Given the description of an element on the screen output the (x, y) to click on. 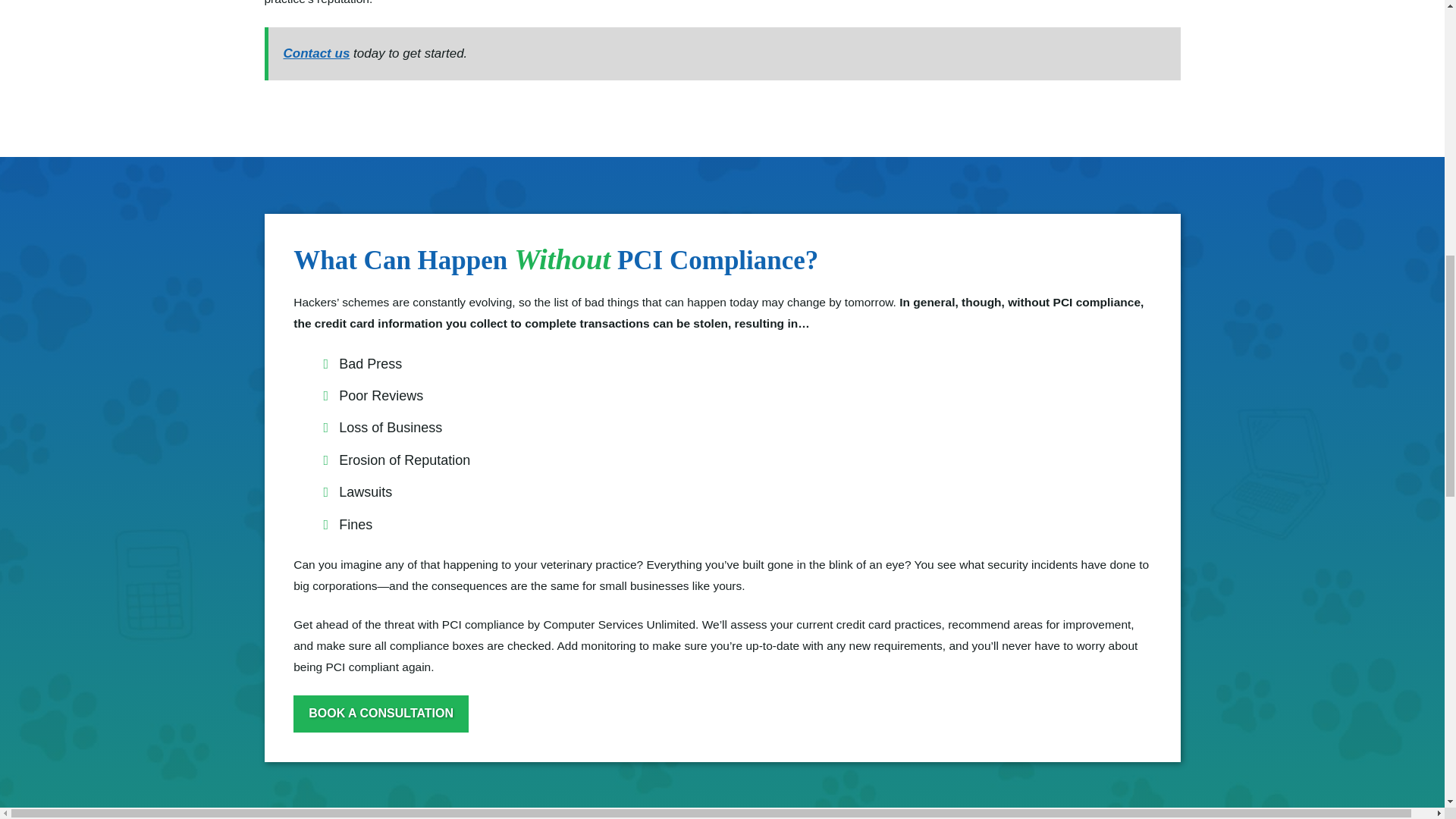
BOOK A CONSULTATION (381, 713)
Scroll back to top (1406, 708)
Contact us (316, 52)
